Given the description of an element on the screen output the (x, y) to click on. 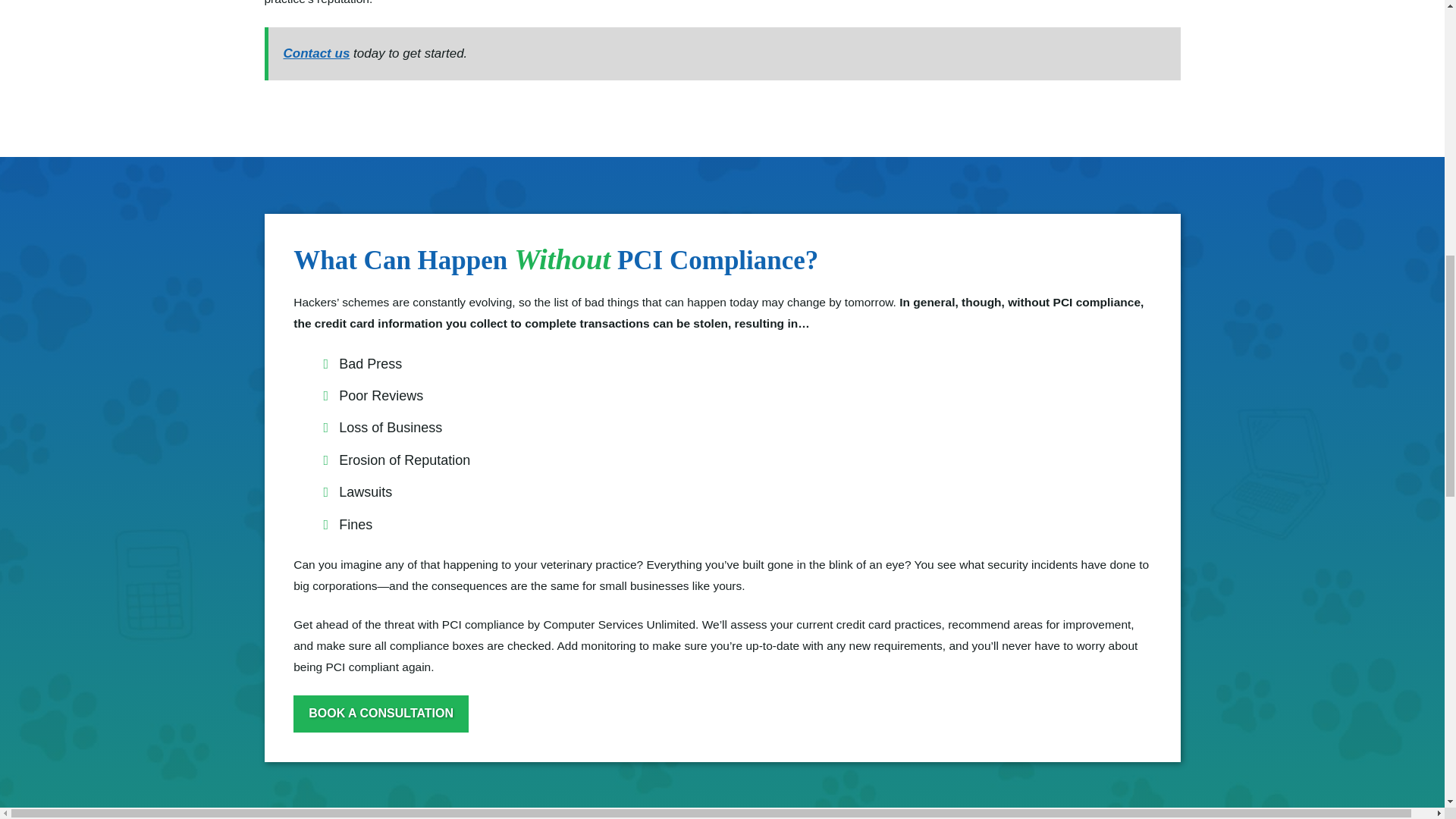
BOOK A CONSULTATION (381, 713)
Scroll back to top (1406, 708)
Contact us (316, 52)
